Given the description of an element on the screen output the (x, y) to click on. 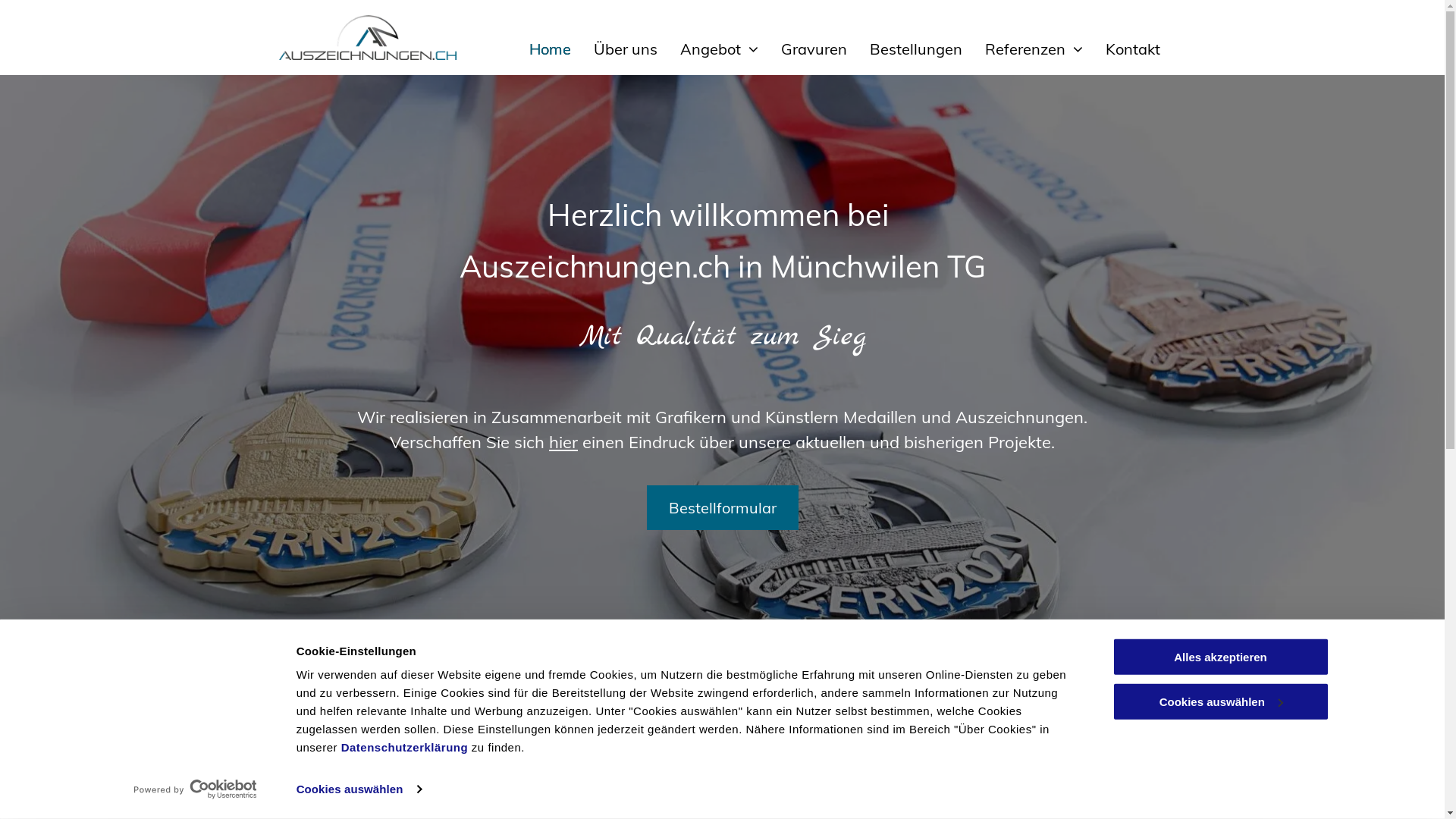
Kontakt Element type: text (1121, 48)
Angebot Element type: text (707, 48)
Home Element type: text (538, 48)
Referenzen Element type: text (1022, 48)
Bestellungen Element type: text (904, 48)
Bestellformular Element type: text (721, 507)
hier Element type: text (563, 441)
Gravuren Element type: text (802, 48)
Alles akzeptieren Element type: text (1219, 656)
